Given the description of an element on the screen output the (x, y) to click on. 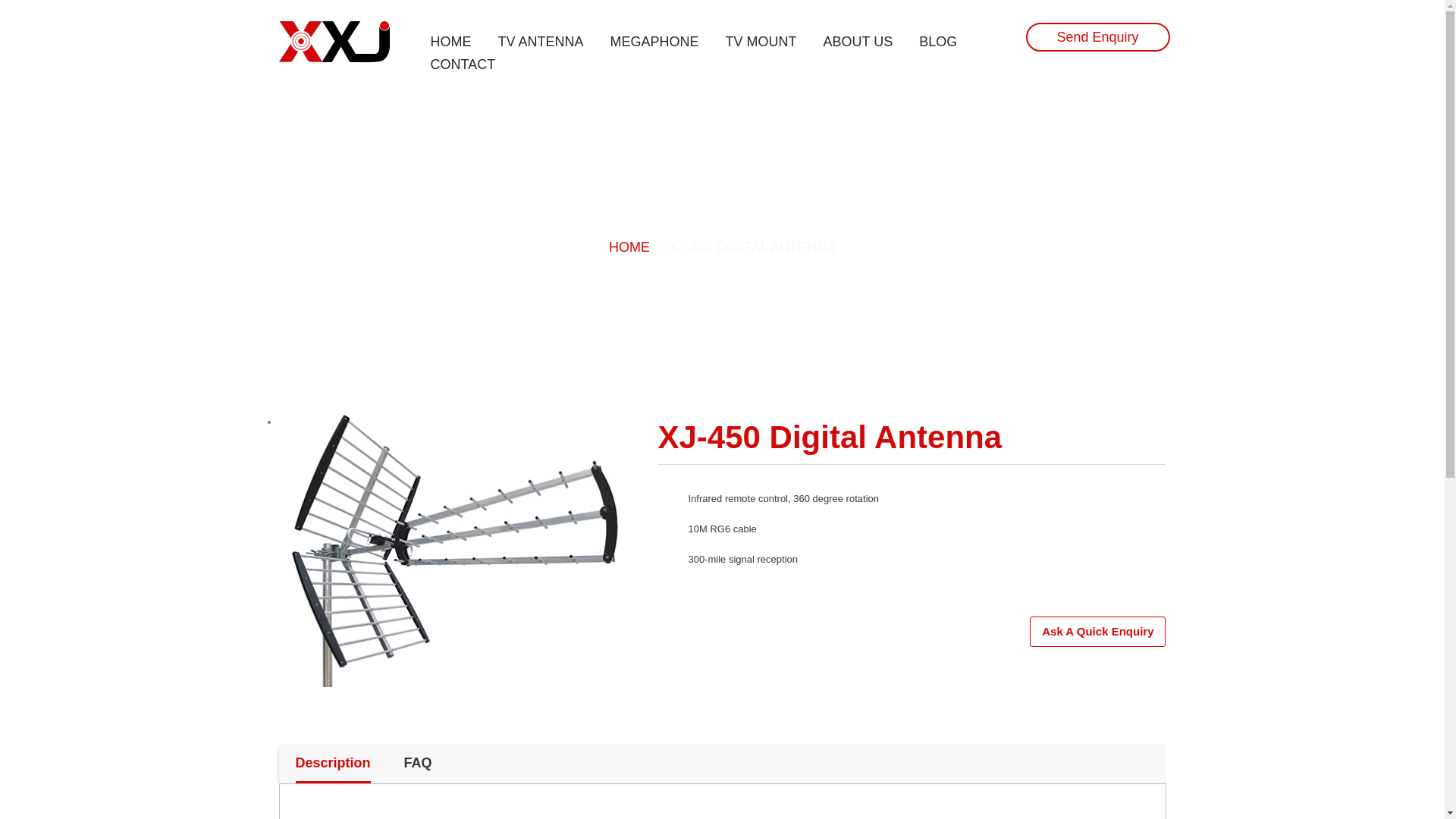
HOME (638, 246)
CONTACT (463, 64)
TV MOUNT (760, 41)
HOME (450, 41)
TV ANTENNA (540, 41)
BLOG (937, 41)
Send Enquiry (1097, 36)
ABOUT US (858, 41)
Ask A Quick Enquiry (1097, 631)
MEGAPHONE (654, 41)
